Given the description of an element on the screen output the (x, y) to click on. 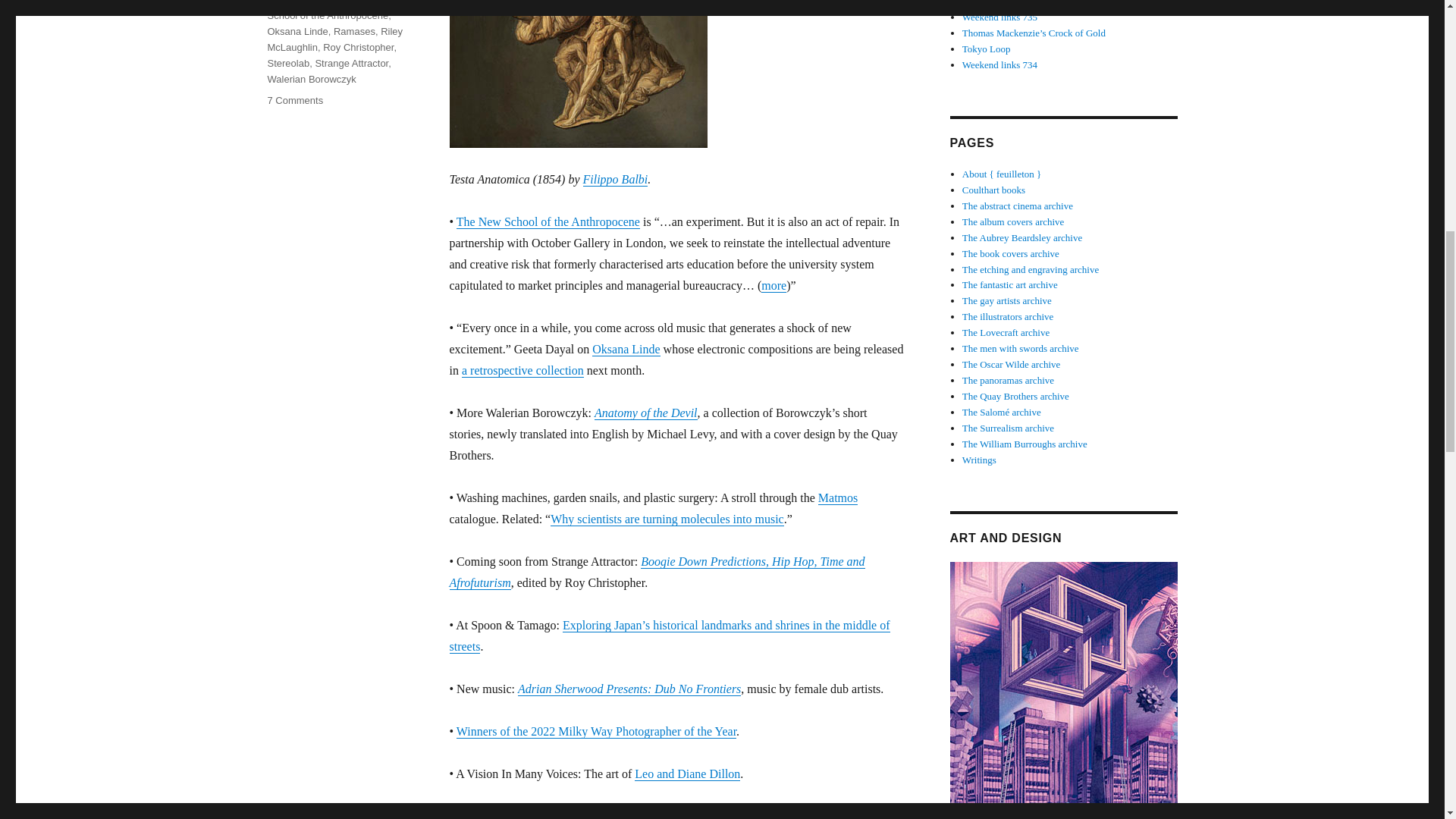
The New School of the Anthropocene (548, 221)
Leo and Diane Dillon (686, 773)
Oksana Linde (625, 349)
more (773, 285)
Filippo Balbi (614, 178)
Winners of the 2022 Milky Way Photographer of the Year (596, 730)
Why scientists are turning molecules into music (667, 518)
Anatomy of the Devil (645, 412)
Matmos (837, 497)
Molecular Delusion (505, 814)
